Given the description of an element on the screen output the (x, y) to click on. 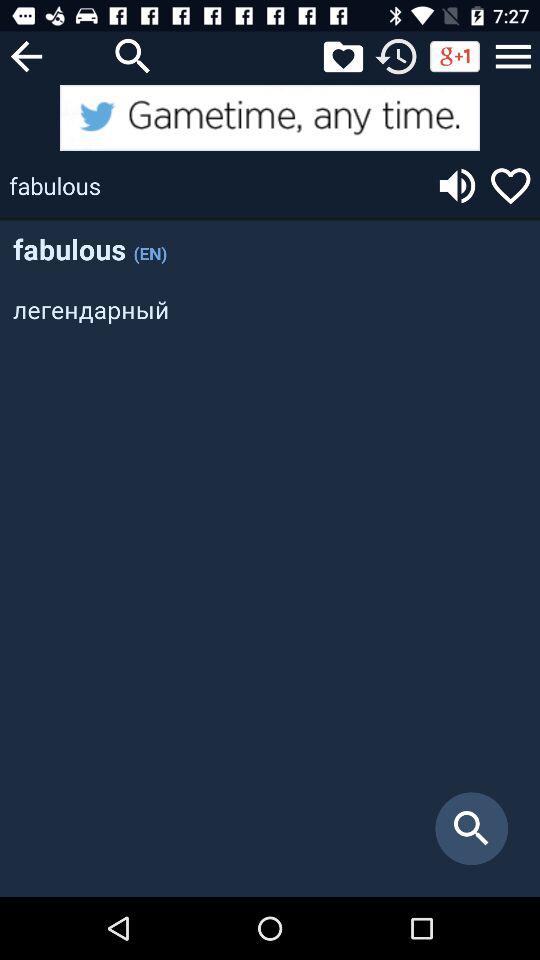
add to favorites (510, 185)
